Given the description of an element on the screen output the (x, y) to click on. 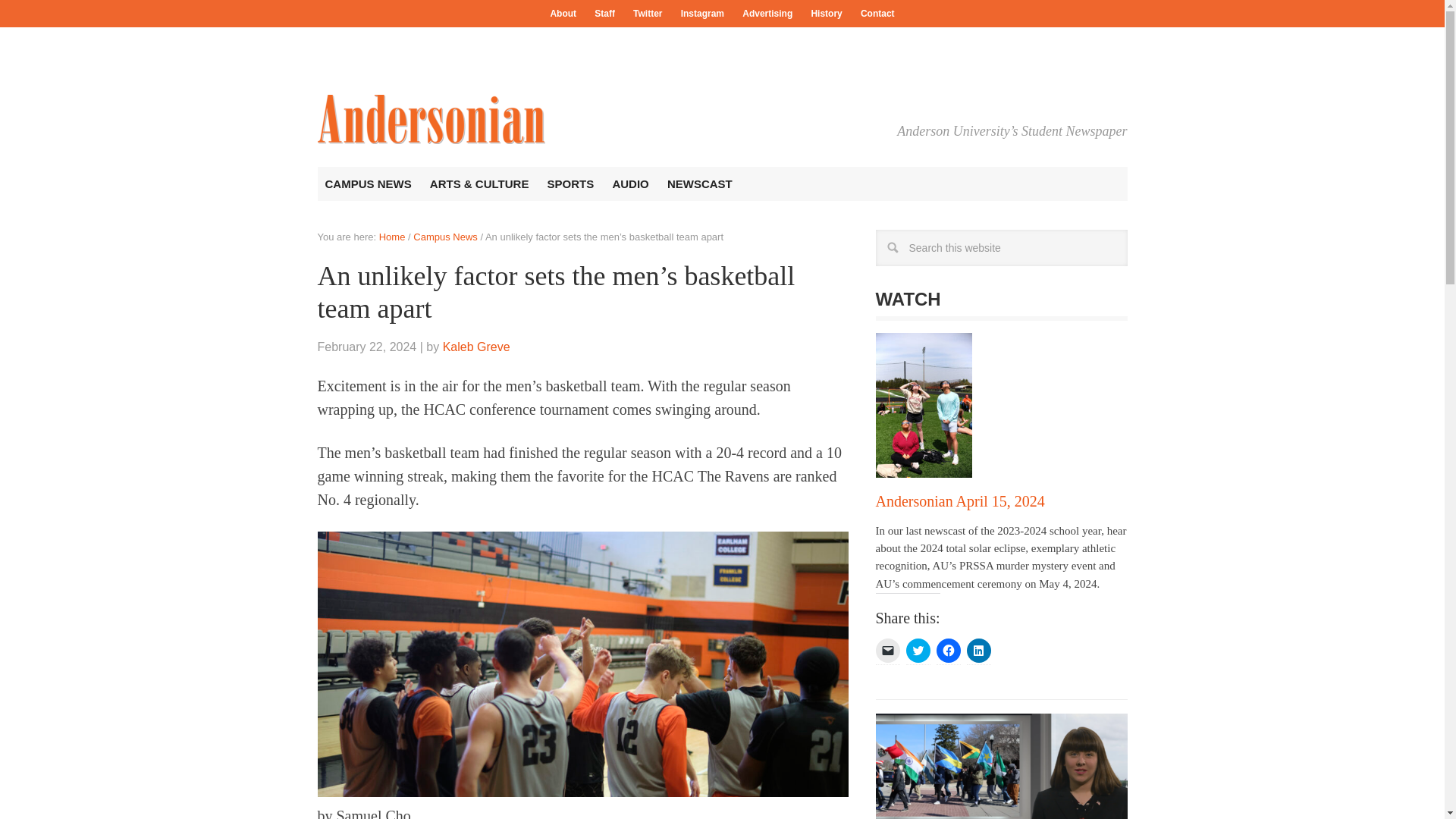
NEWSCAST (699, 183)
Andersonian April 15, 2024 (959, 501)
Click to share on LinkedIn (978, 650)
History (825, 13)
Staff (604, 13)
Click to email a link to a friend (887, 650)
Click to share on Facebook (947, 650)
Advertising (767, 13)
Andersonian April 15, 2024 (959, 501)
